Given the description of an element on the screen output the (x, y) to click on. 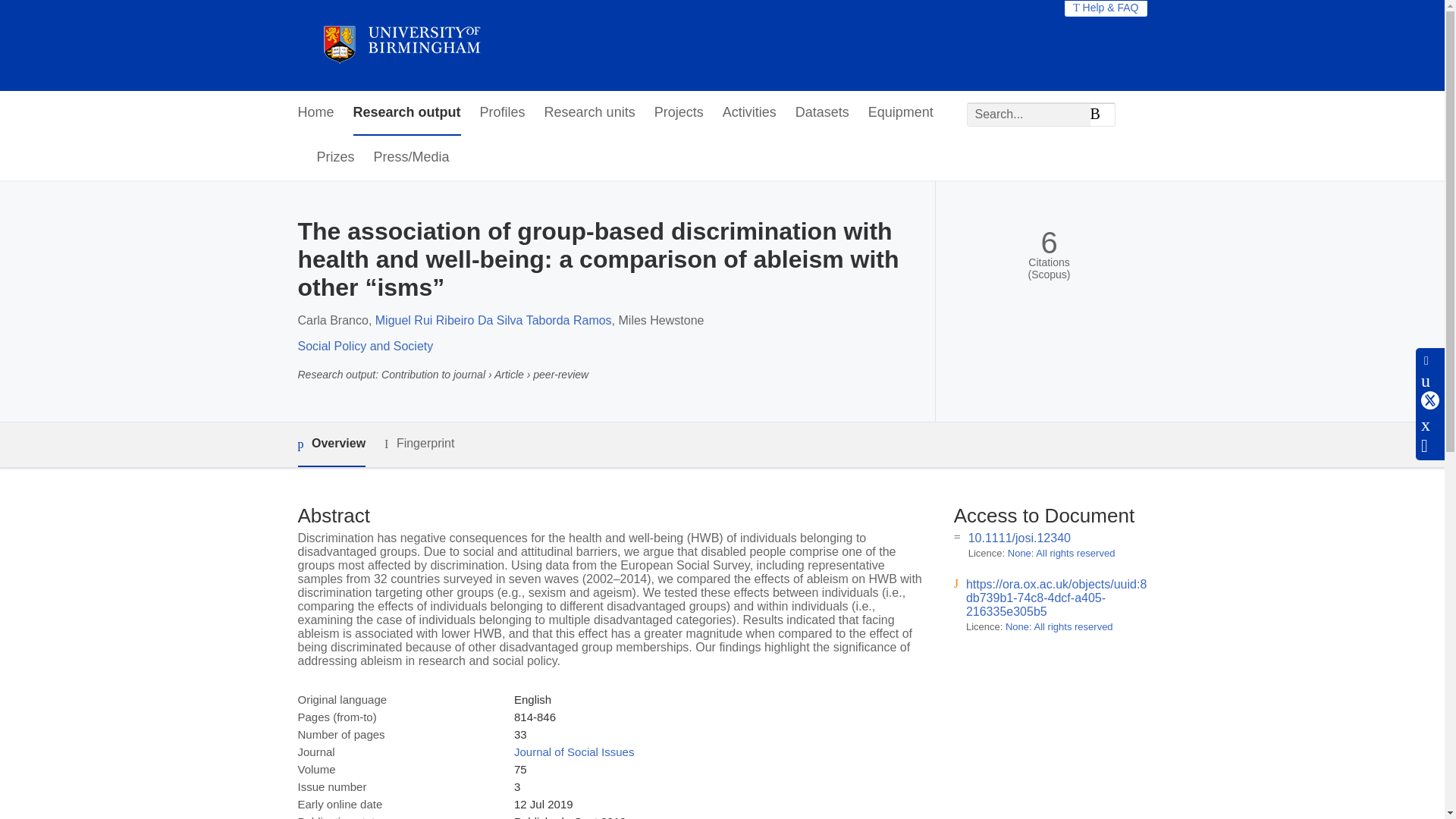
Profiles (502, 112)
Equipment (900, 112)
University of Birmingham Home (401, 45)
Research units (589, 112)
Research output (407, 112)
Fingerprint (419, 444)
None: All rights reserved (1059, 626)
Overview (331, 444)
Miguel Rui Ribeiro Da Silva Taborda Ramos (493, 319)
Journal of Social Issues (573, 751)
